Given the description of an element on the screen output the (x, y) to click on. 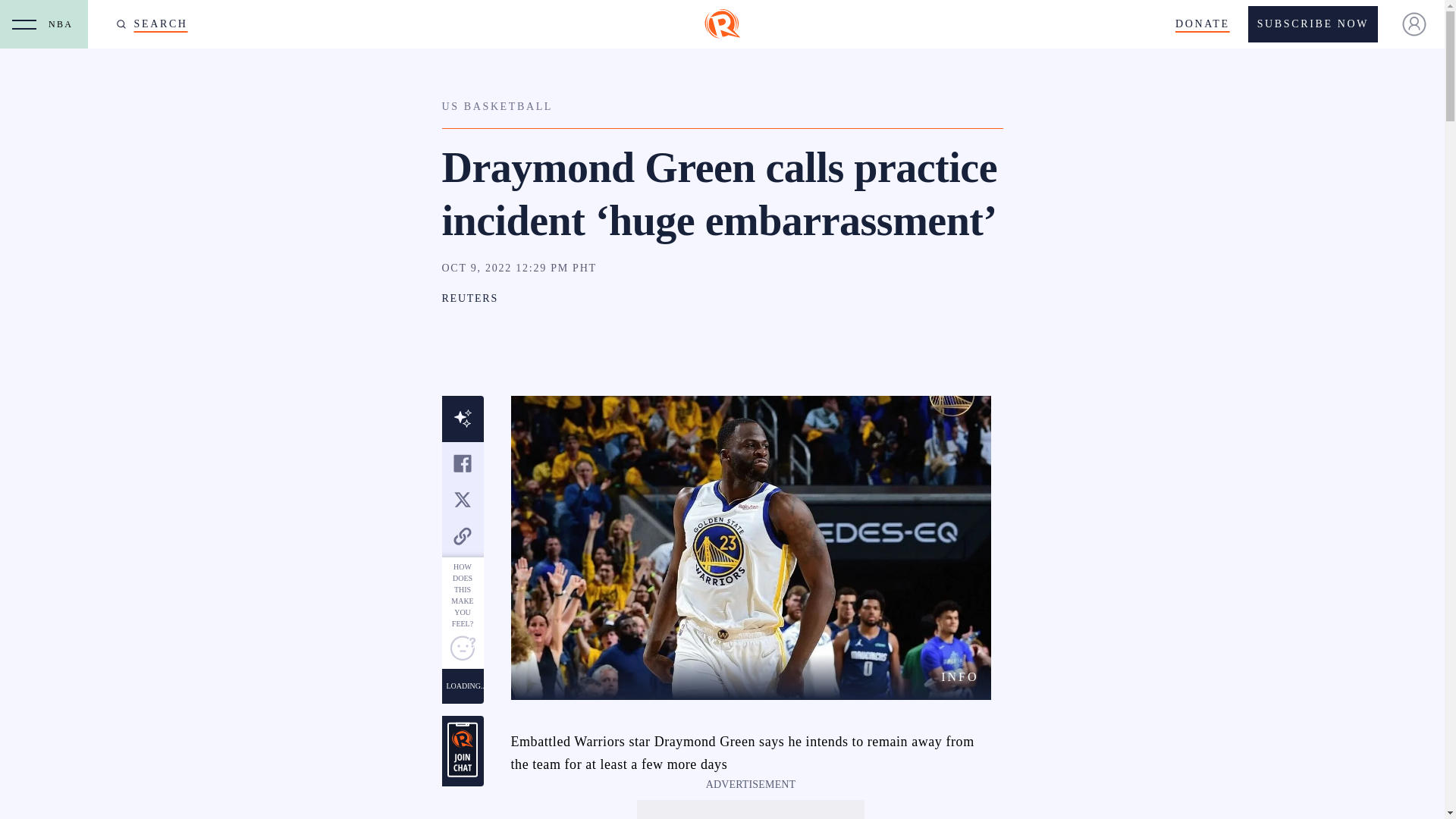
NBA (64, 23)
OPEN NAVIGATION (24, 24)
